Given the description of an element on the screen output the (x, y) to click on. 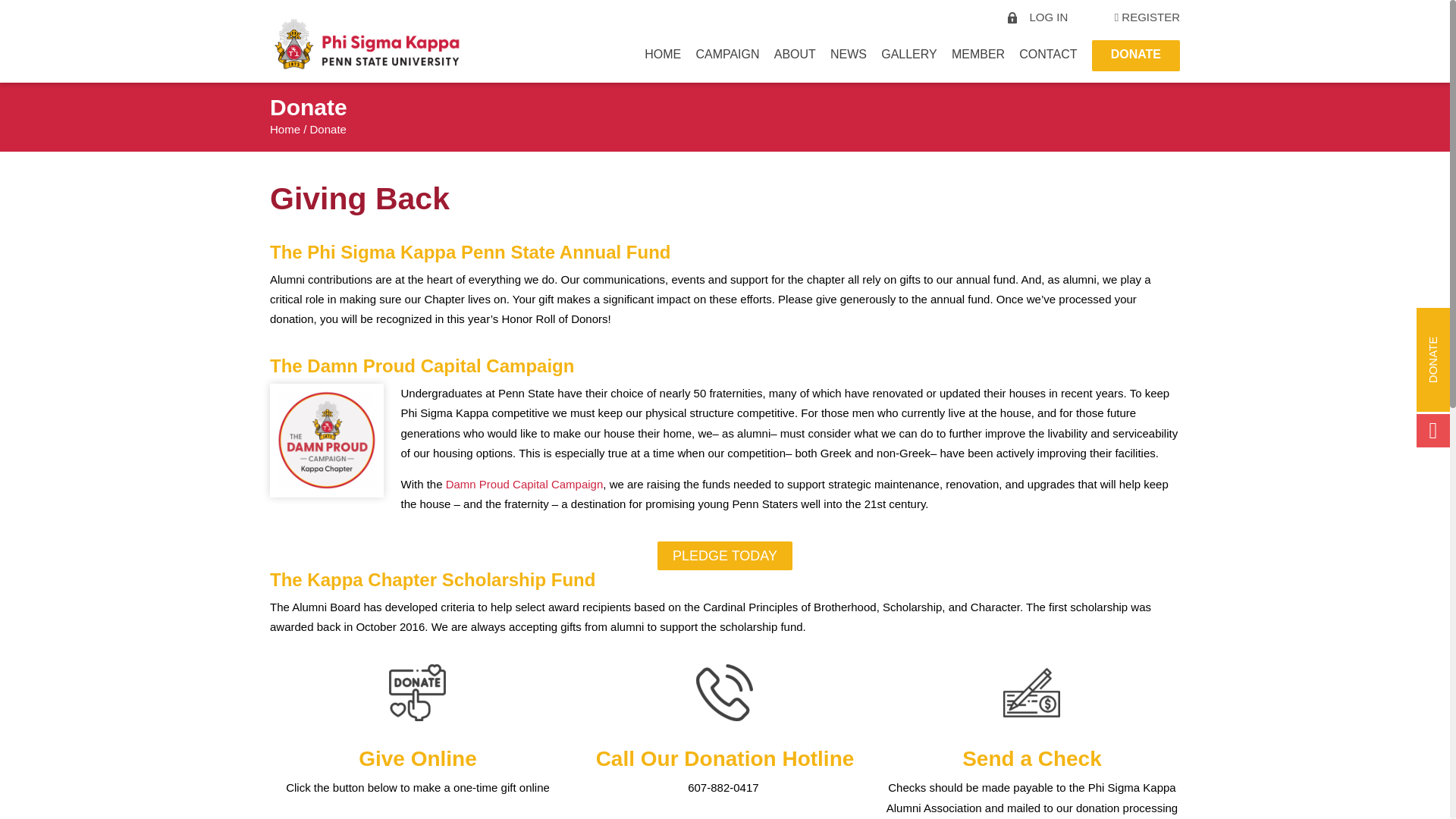
donate (416, 692)
REGISTER (1150, 16)
phone (723, 692)
check (1031, 692)
LOG IN (1048, 16)
MEMBER (978, 56)
CAMPAIGN (726, 56)
GALLERY (908, 56)
NEWS (847, 56)
ABOUT (794, 56)
HOME (663, 56)
CONTACT (1048, 56)
DONATE (1135, 56)
